Given the description of an element on the screen output the (x, y) to click on. 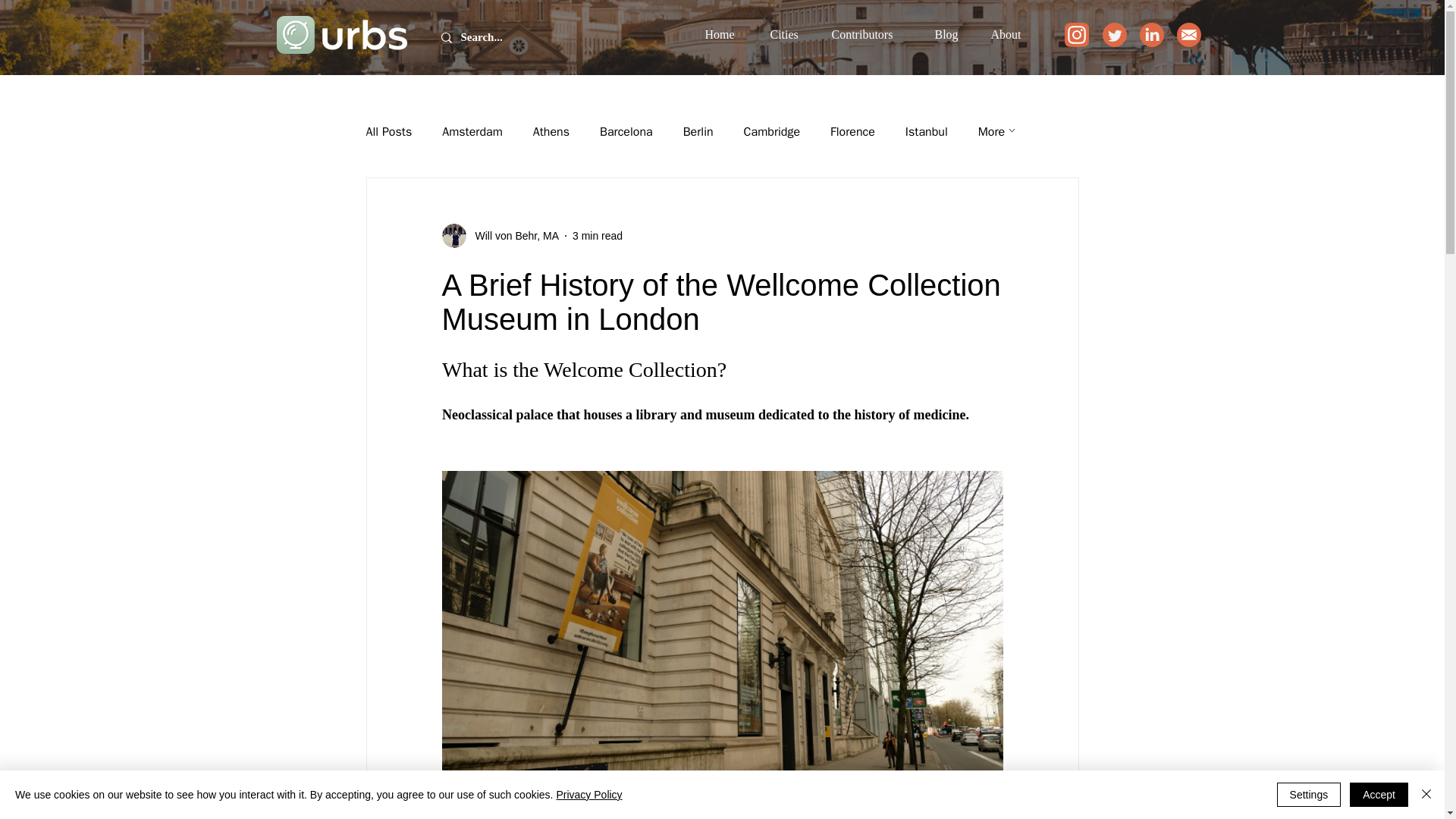
Cambridge (771, 132)
Home (725, 34)
Barcelona (625, 132)
Florence (852, 132)
Istanbul (926, 132)
Amsterdam (472, 132)
Cities (788, 34)
Blog (951, 34)
Contributors (872, 34)
Will von Behr, MA (511, 235)
All Posts (388, 132)
3 min read (597, 234)
Athens (550, 132)
Berlin (697, 132)
About (1011, 34)
